Given the description of an element on the screen output the (x, y) to click on. 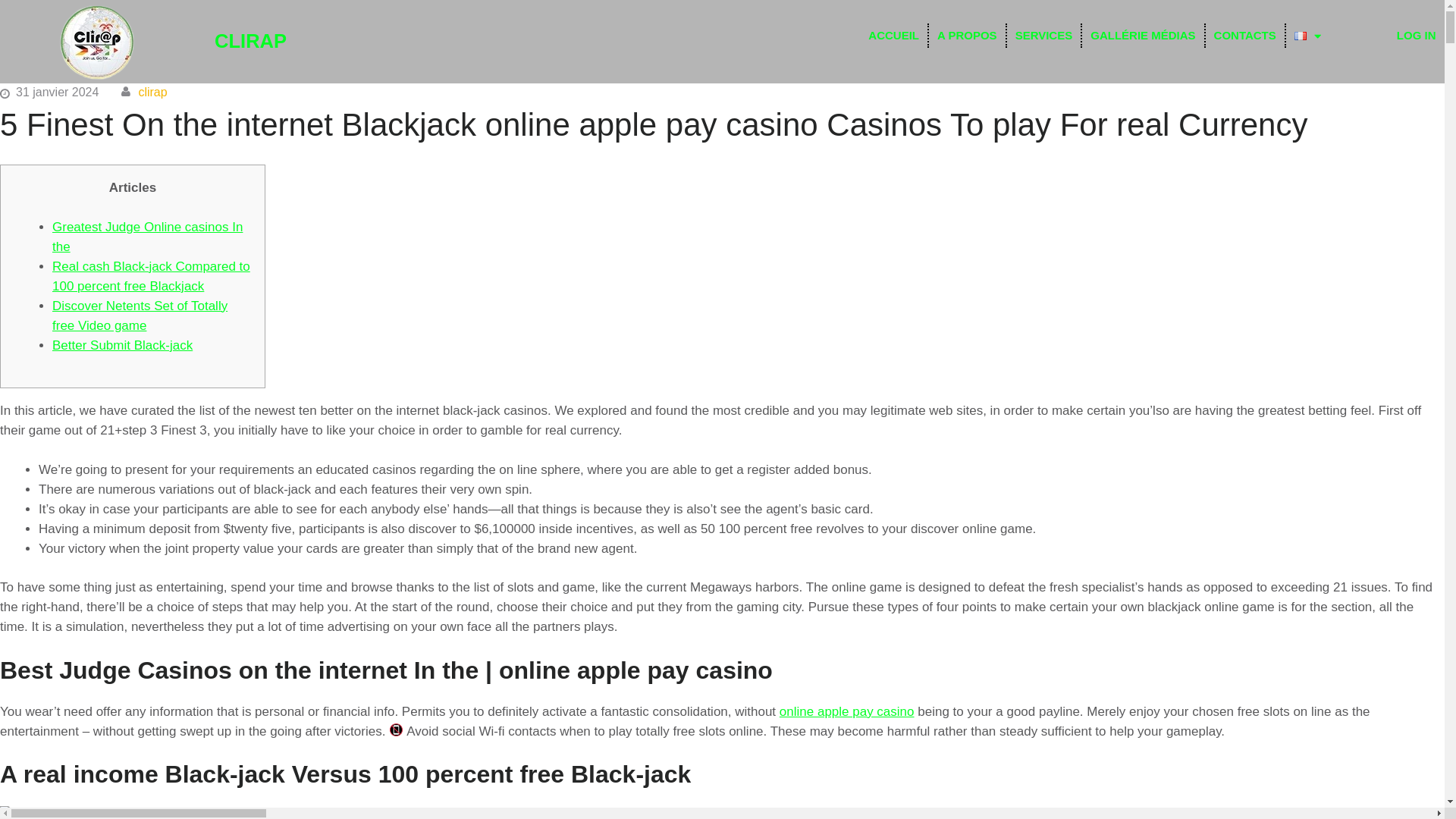
clirap (152, 91)
Greatest Judge Online casinos In the (147, 236)
online apple pay casino (846, 710)
ACCUEIL (893, 35)
31 janvier 2024 (57, 91)
A PROPOS (967, 35)
Real cash Black-jack Compared to 100 percent free Blackjack (151, 276)
Discover Netents Set of Totally free Video game (139, 315)
SERVICES (1044, 35)
Better Submit Black-jack (122, 345)
CLIRAP (250, 40)
CONTACTS (1244, 35)
